Given the description of an element on the screen output the (x, y) to click on. 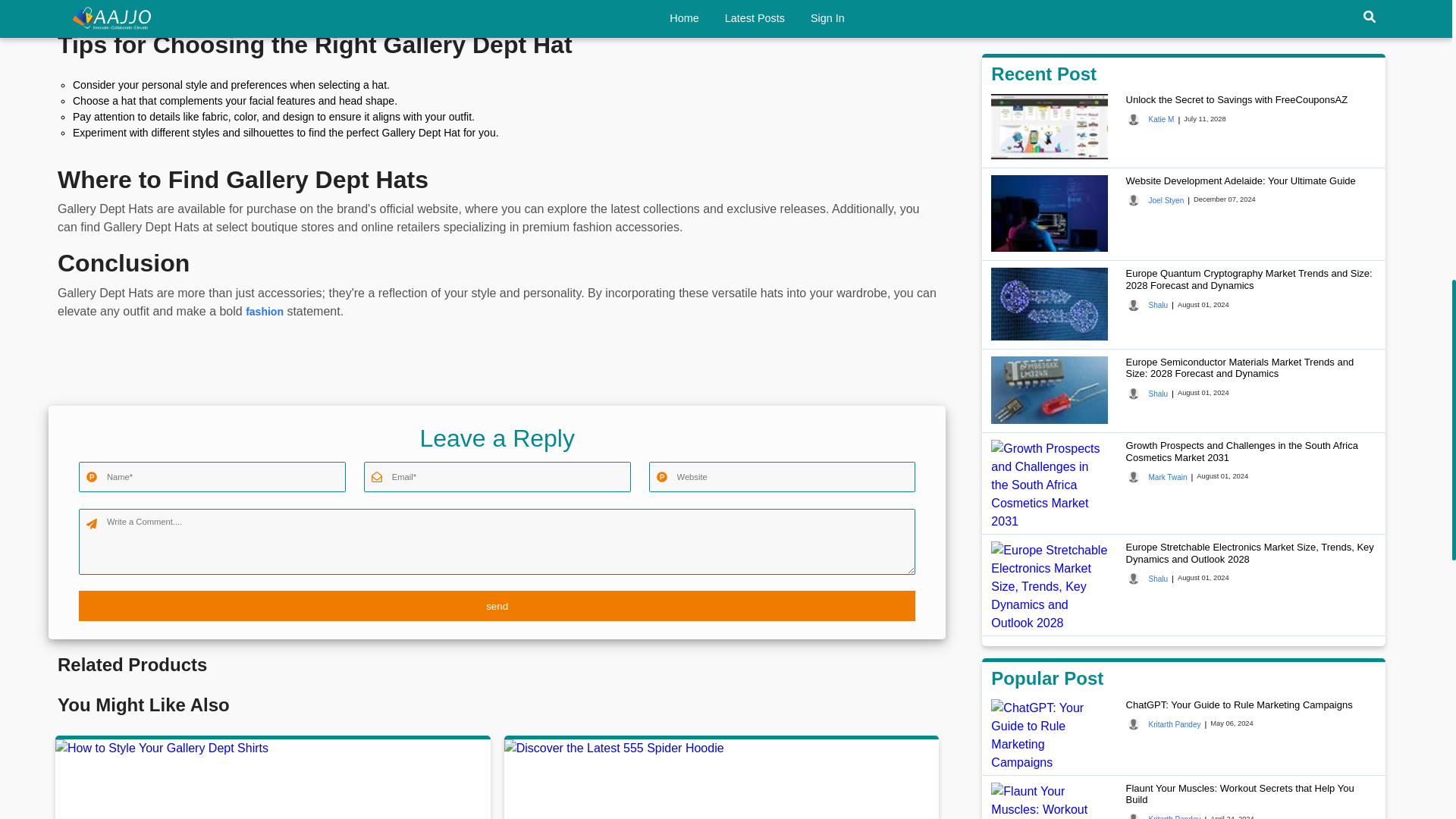
fashion (264, 311)
send (496, 605)
